Given the description of an element on the screen output the (x, y) to click on. 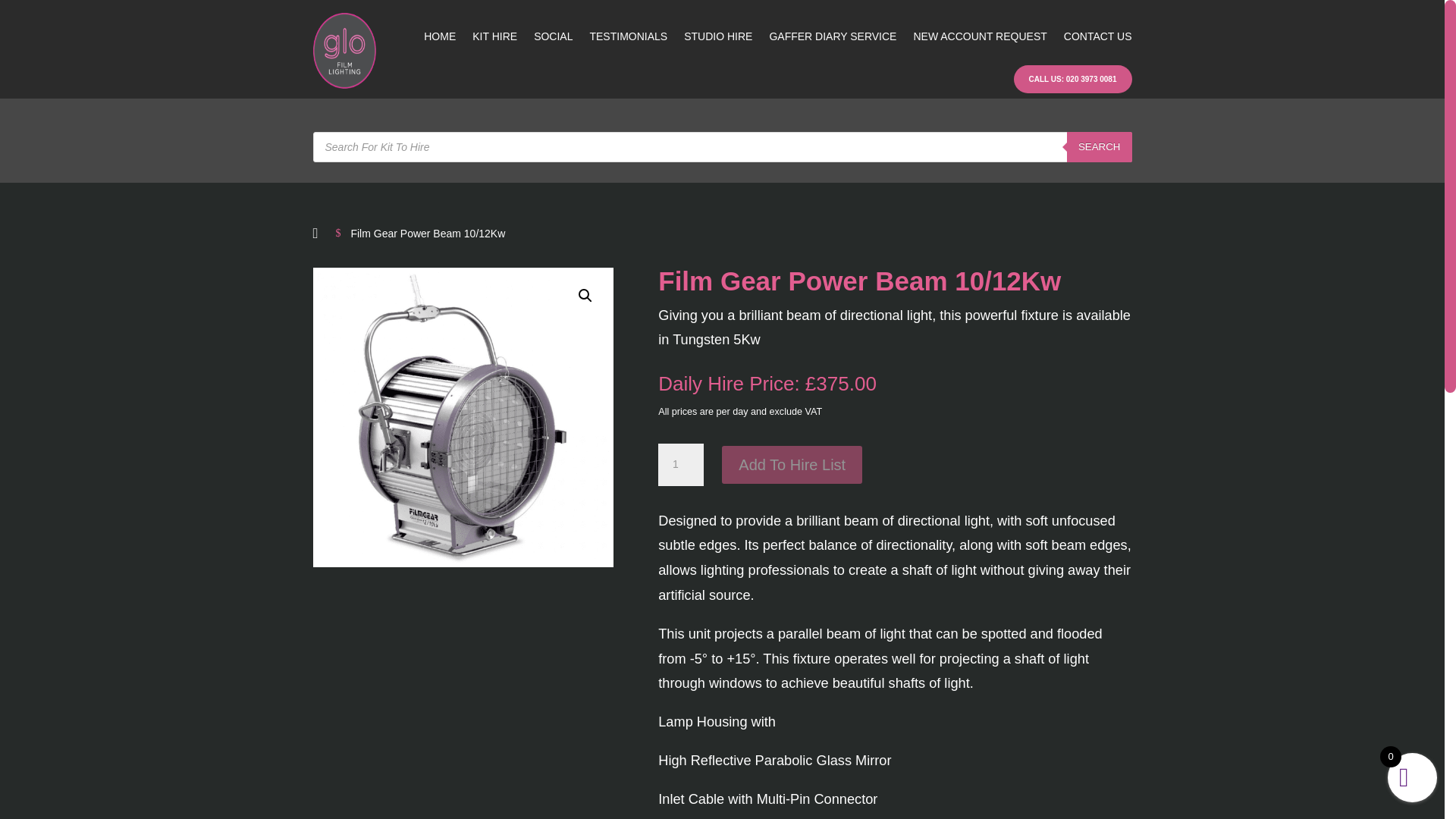
NEW ACCOUNT REQUEST (979, 36)
STUDIO HIRE (718, 36)
1 (680, 464)
Screenshot 2023-01-06 121653 (463, 417)
Add To Hire List (791, 464)
GAFFER DIARY SERVICE (832, 36)
SEARCH (1099, 146)
CONTACT US (1098, 36)
TESTIMONIALS (627, 36)
CALL US: 020 3973 0081 (1072, 79)
